Given the description of an element on the screen output the (x, y) to click on. 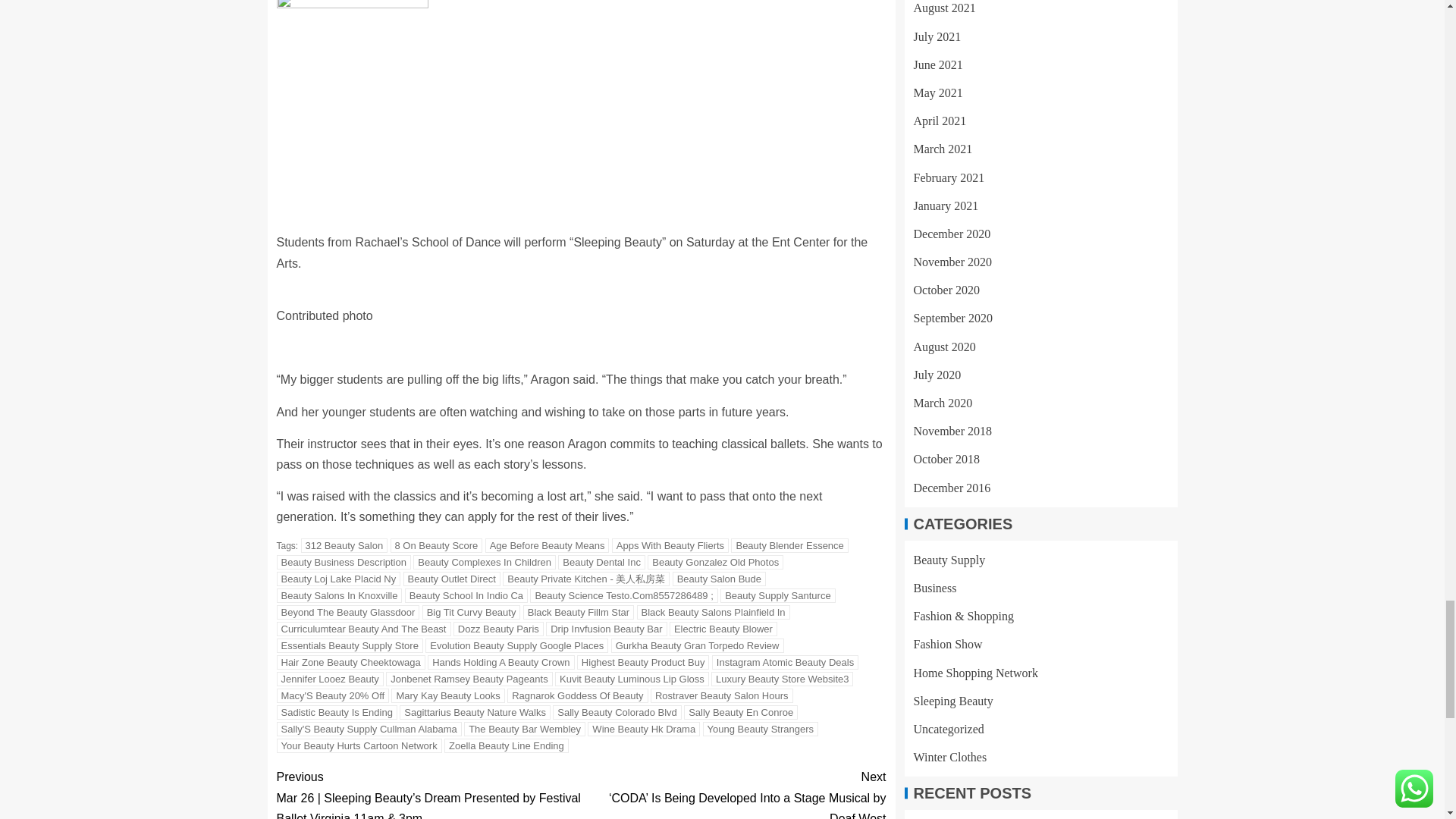
Beauty Science Testo.Com8557286489 ; (623, 595)
Beauty Blender Essence (788, 545)
Beauty Outlet Direct (451, 578)
Age Before Beauty Means (547, 545)
Beauty Gonzalez Old Photos (715, 562)
Beauty Dental Inc (601, 562)
8 On Beauty Score (435, 545)
Beauty Business Description (343, 562)
Beauty Loj Lake Placid Ny (338, 578)
Apps With Beauty Flierts (670, 545)
